Given the description of an element on the screen output the (x, y) to click on. 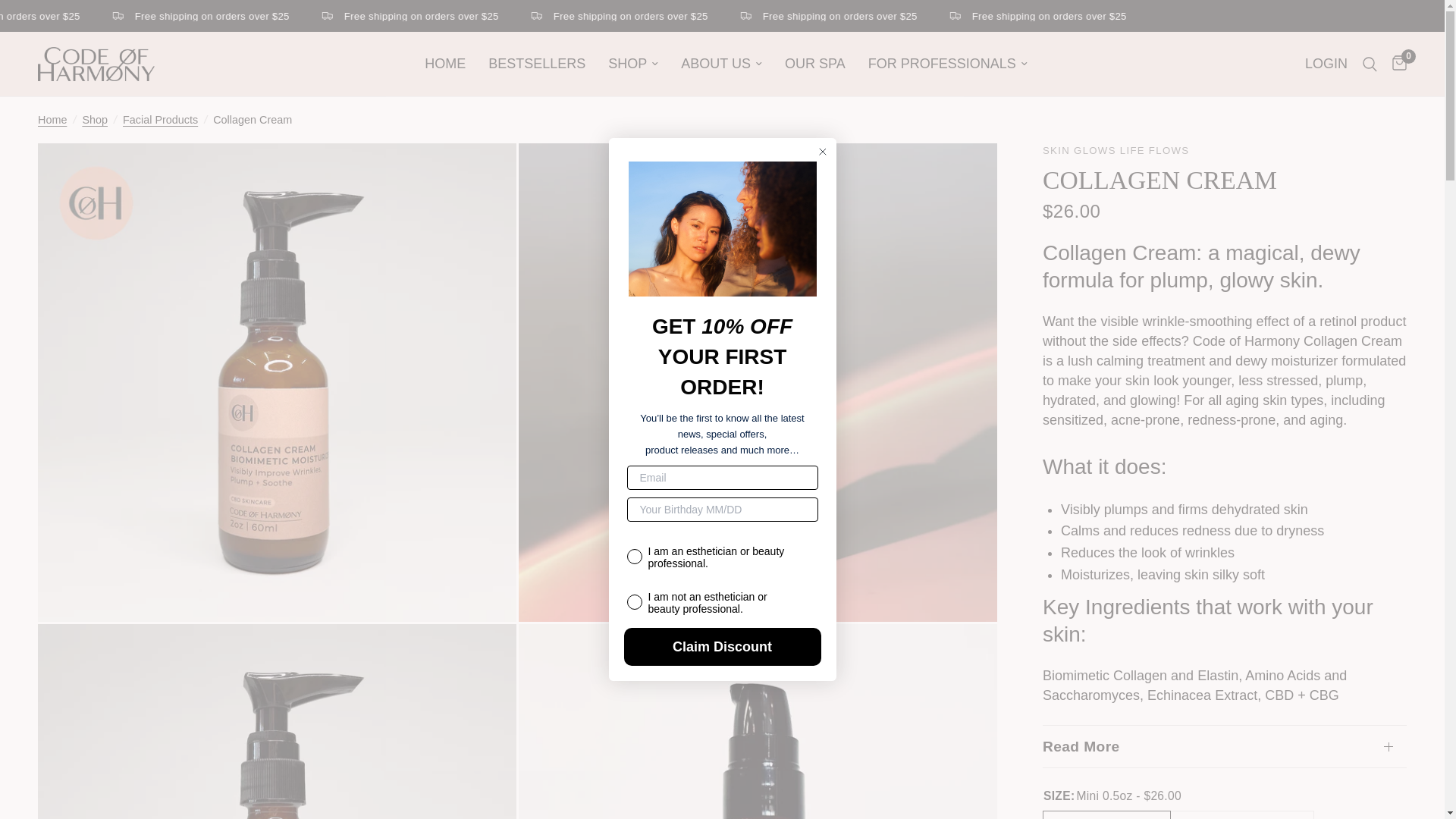
on (634, 536)
SHOP (633, 64)
on (634, 581)
HOME (445, 64)
BESTSELLERS (536, 64)
